Given the description of an element on the screen output the (x, y) to click on. 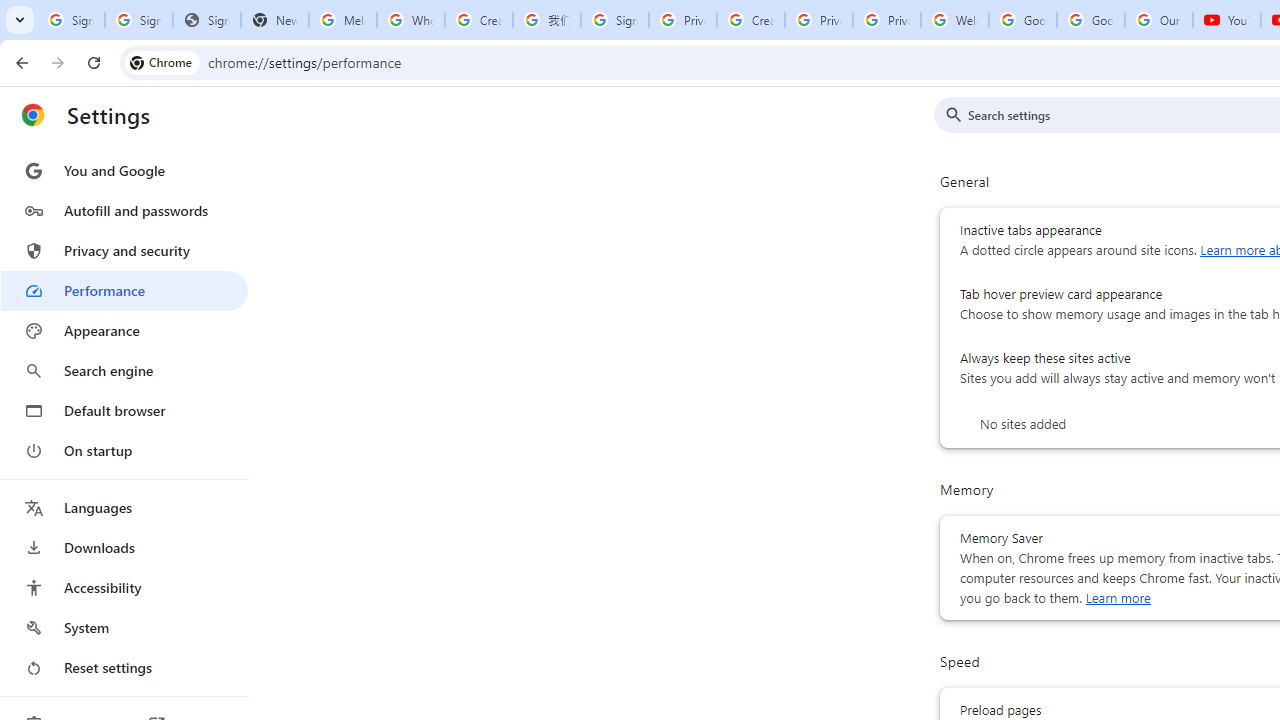
Appearance (124, 331)
Sign In - USA TODAY (206, 20)
Languages (124, 507)
Google Account (1091, 20)
Default browser (124, 410)
Sign in - Google Accounts (138, 20)
Who is my administrator? - Google Account Help (411, 20)
